Given the description of an element on the screen output the (x, y) to click on. 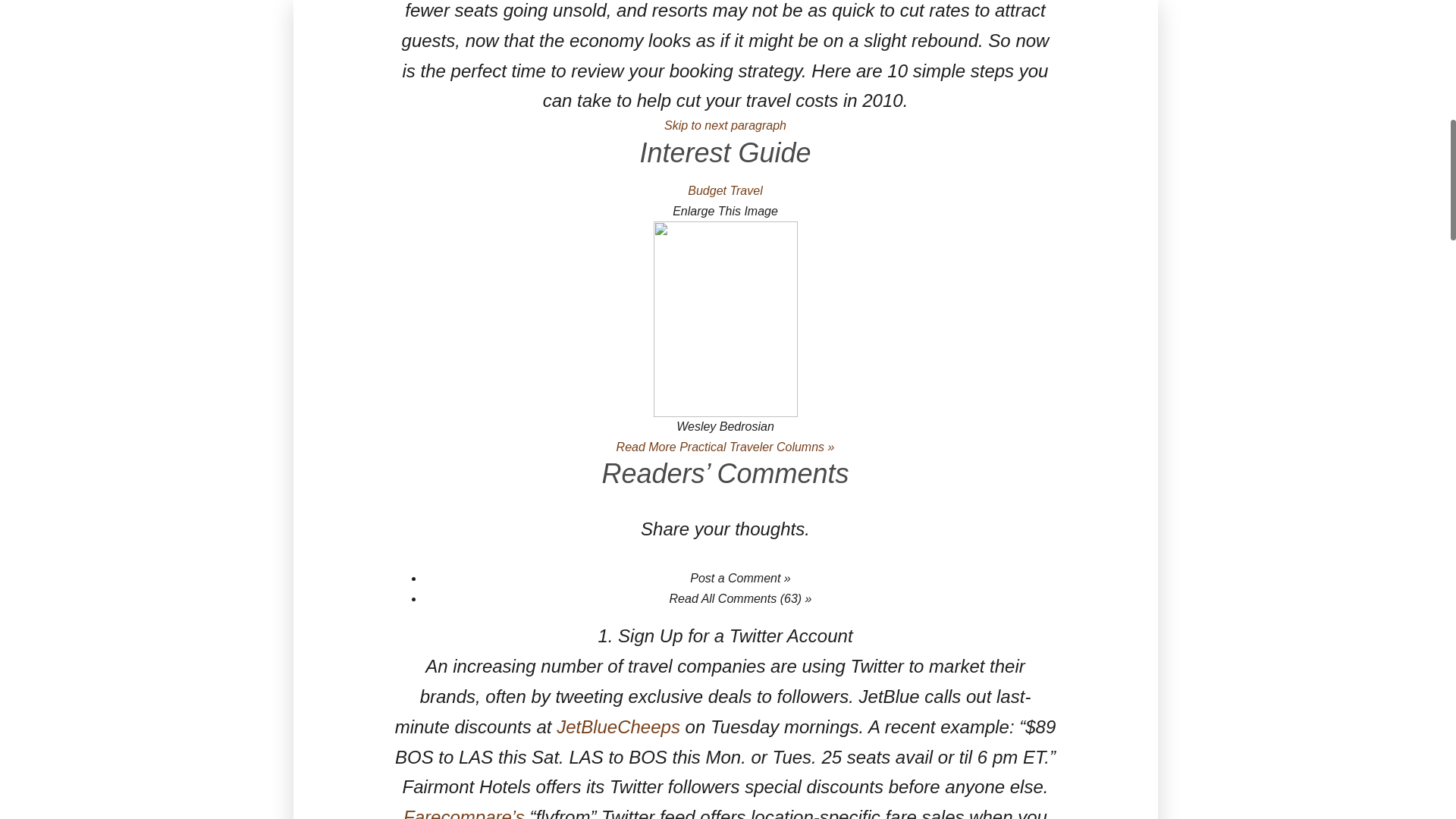
Skip to next paragraph (724, 124)
Enlarge This Image (724, 210)
Budget Travel (724, 190)
JetBlueCheeps (617, 726)
